Given the description of an element on the screen output the (x, y) to click on. 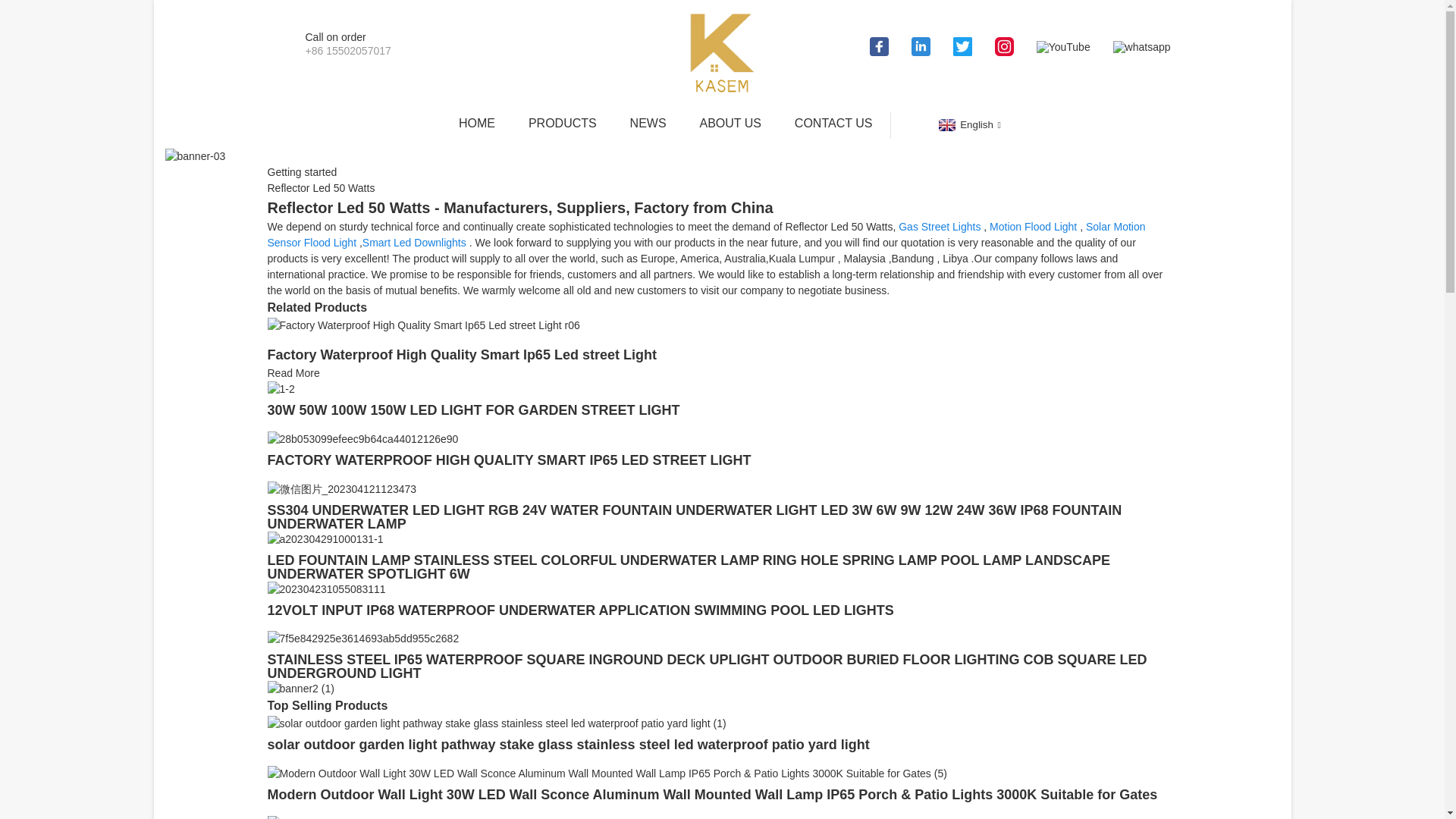
Gas Street Lights (938, 226)
FACTORY WATERPROOF HIGH QUALITY SMART IP65 LED STREET LIGHT (508, 459)
NEWS (647, 123)
English (967, 124)
Factory Waterproof High Quality Smart Ip65 Led street Light (422, 324)
30W 50W 100W 150W LED LIGHT FOR GARDEN STREET LIGHT (472, 409)
30W 50W 100W 150W LED LIGHT FOR GARDEN STREET LIGHT (280, 388)
Reflector Led 50 Watts (320, 187)
Factory Waterproof High Quality Smart Ip65 Led street Light (461, 354)
